Given the description of an element on the screen output the (x, y) to click on. 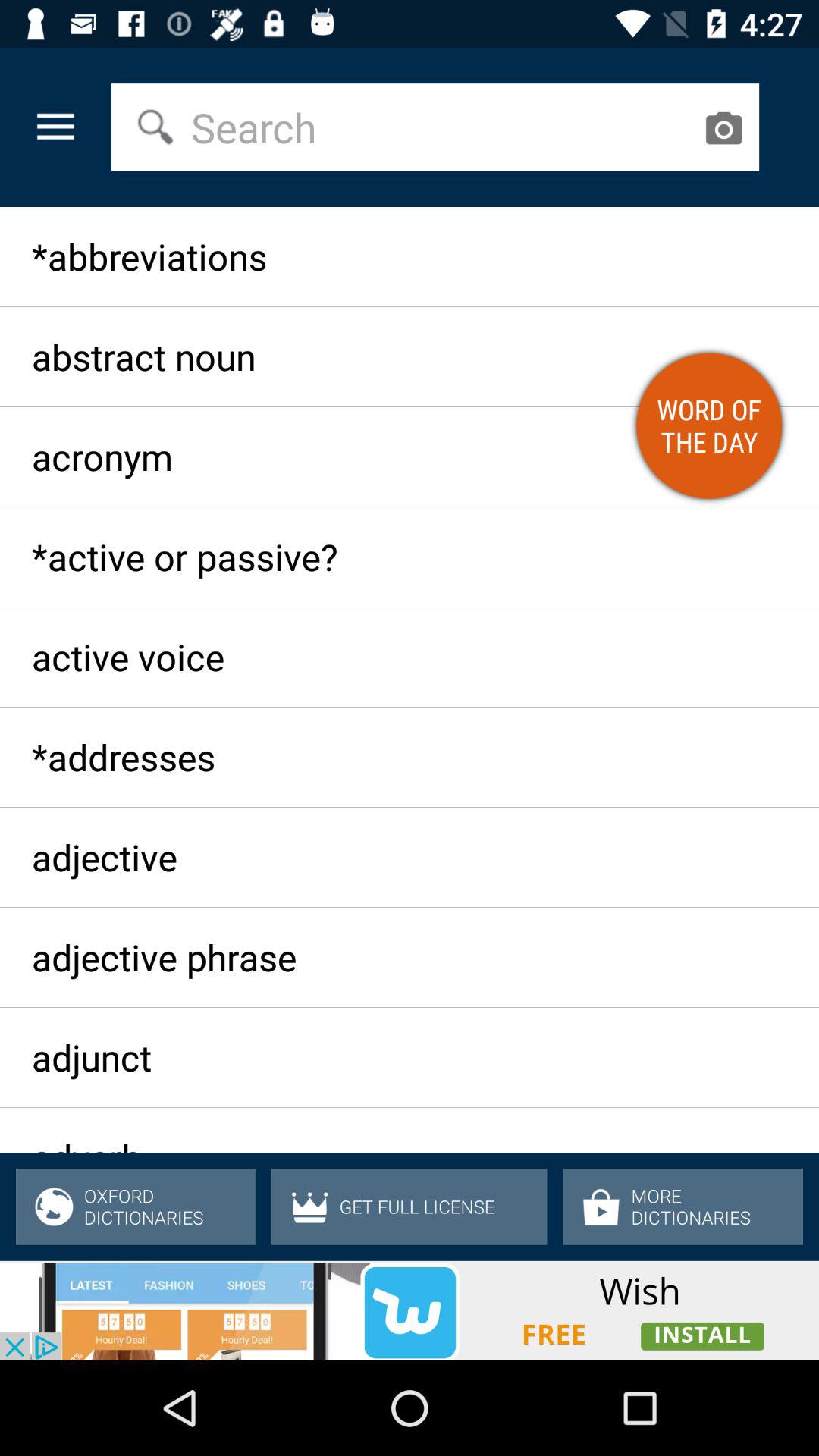
free add (409, 1310)
